Given the description of an element on the screen output the (x, y) to click on. 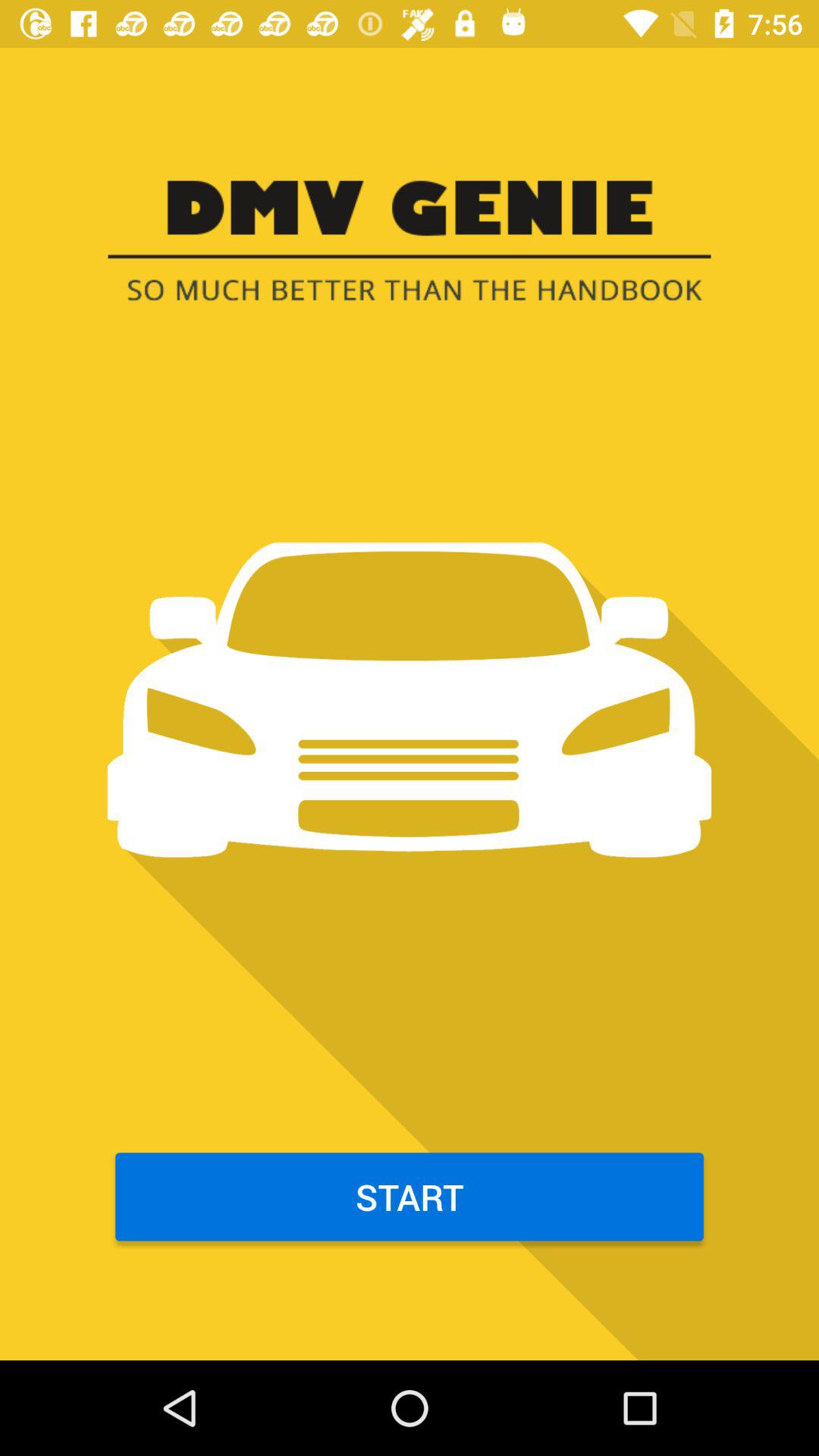
scroll to start (409, 1196)
